Given the description of an element on the screen output the (x, y) to click on. 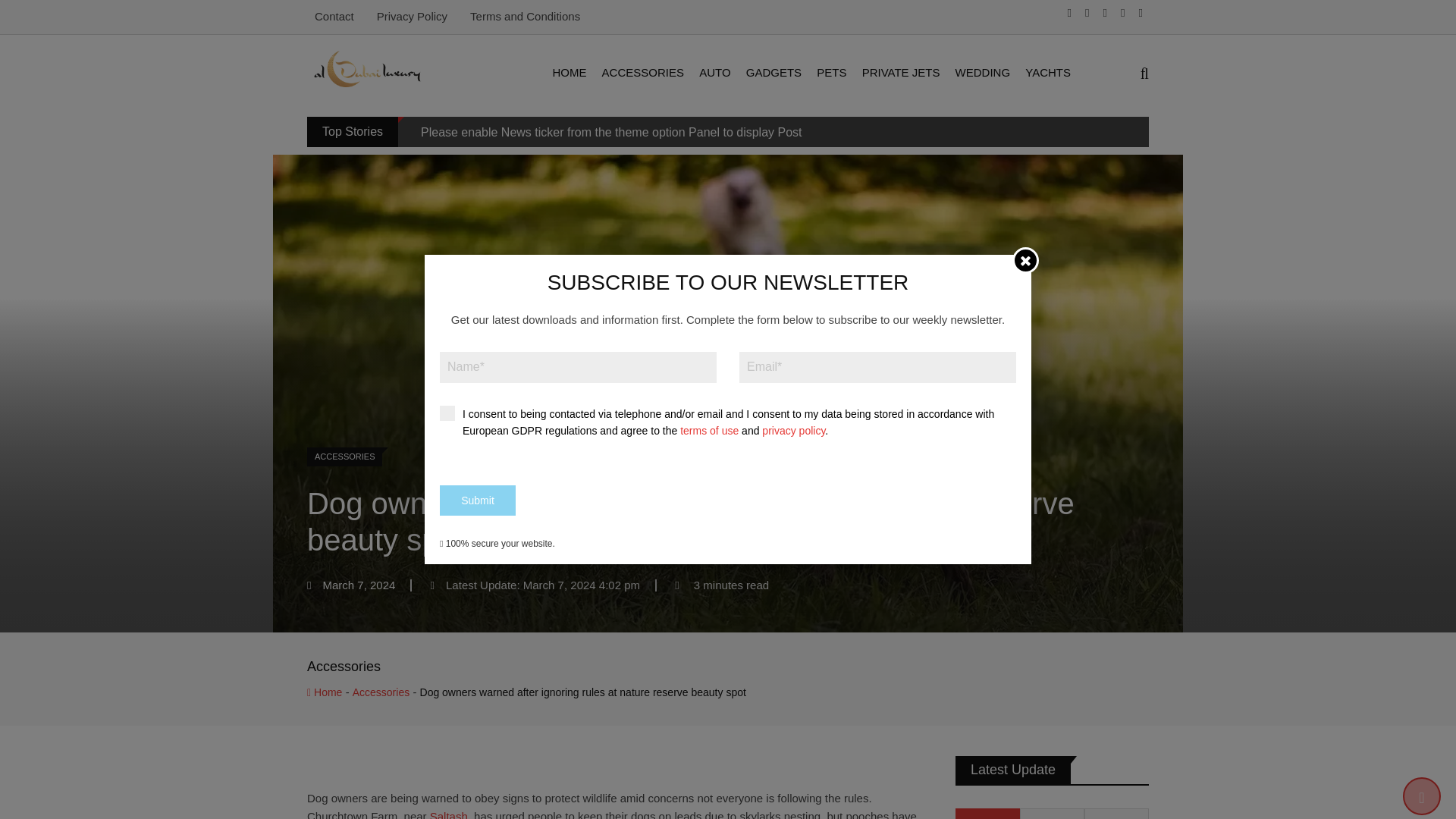
YACHTS (1048, 72)
ACCESSORIES (642, 72)
Terms and Conditions (524, 15)
Privacy Policy (411, 15)
PRIVATE JETS (901, 72)
AUTO (714, 72)
Contact (333, 15)
PETS (830, 72)
WEDDING (982, 72)
GADGETS (773, 72)
HOME (569, 72)
